Given the description of an element on the screen output the (x, y) to click on. 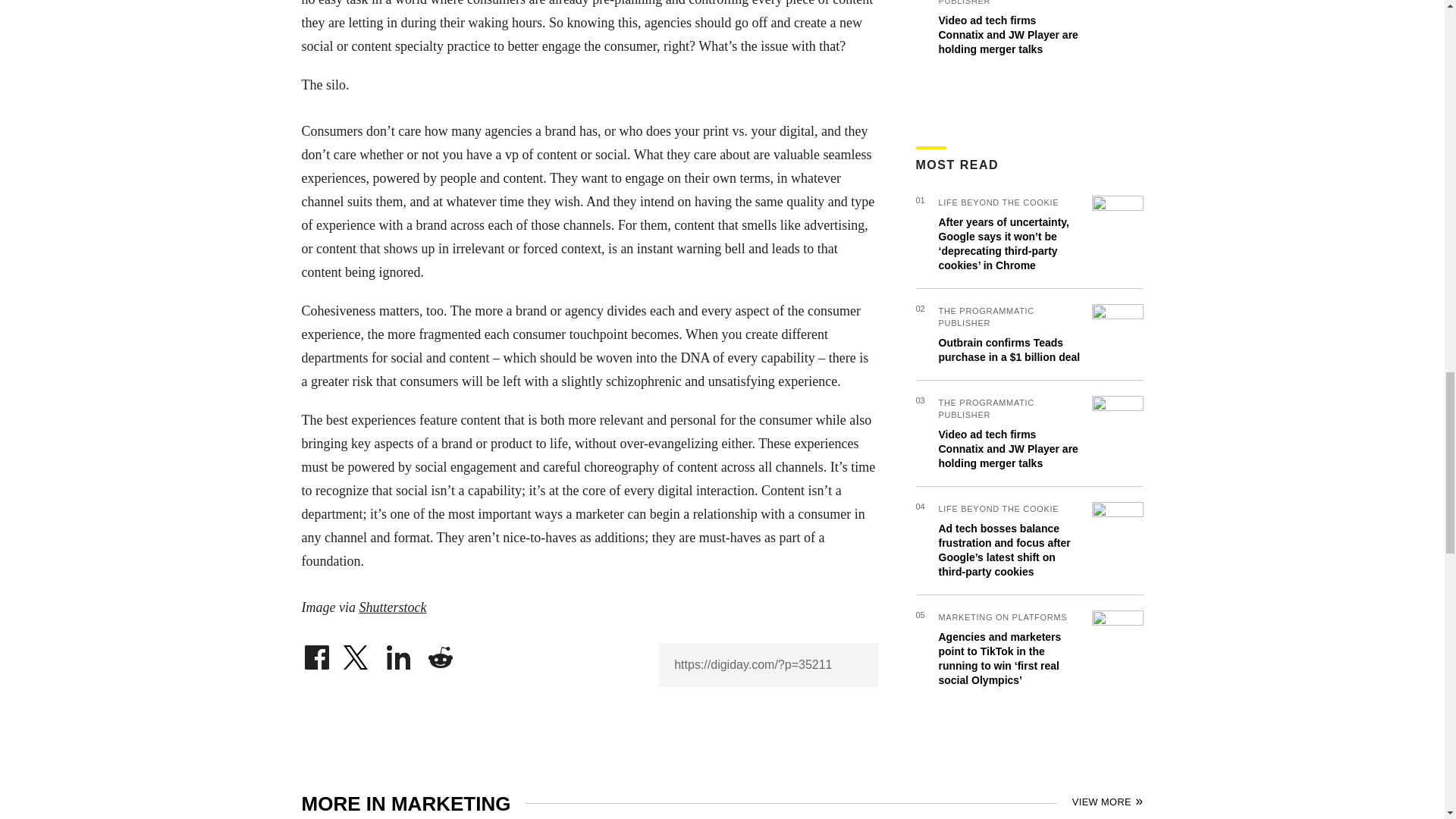
Share on Facebook (316, 653)
Share on LinkedIn (398, 653)
Share on Reddit (440, 653)
Share on Twitter (357, 653)
